Given the description of an element on the screen output the (x, y) to click on. 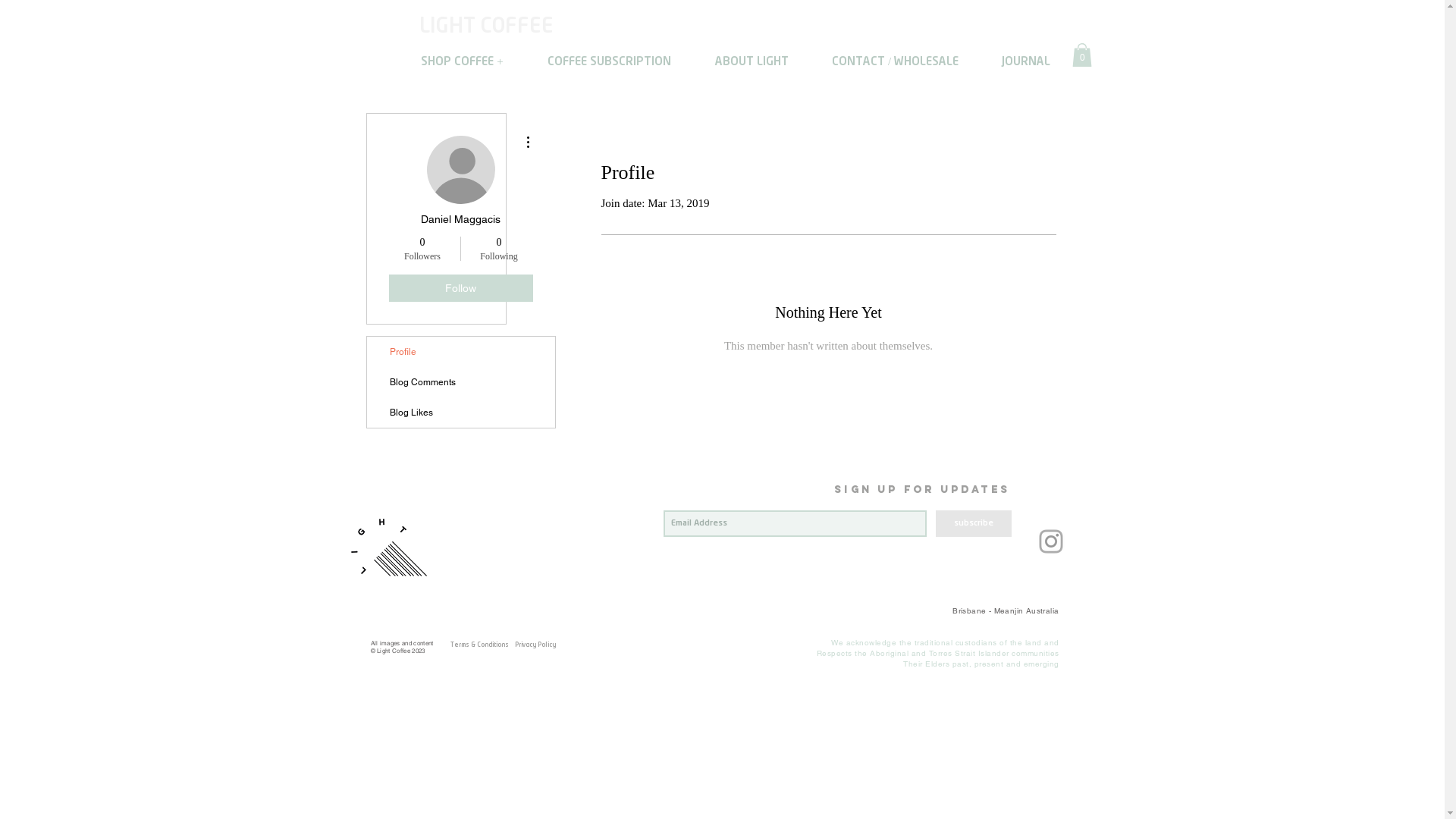
JOURNAL Element type: text (1025, 61)
Privacy Policy Element type: text (535, 646)
0 Element type: text (1082, 54)
SHOP COFFEE + Element type: text (461, 61)
Blog Likes Element type: text (461, 412)
LIGHT COFFEE Element type: text (489, 26)
subscribe Element type: text (973, 523)
COFFEE SUBSCRIPTION Element type: text (608, 61)
CONTACT / WHOLESALE Element type: text (894, 61)
0
Following Element type: text (499, 248)
Follow Element type: text (460, 287)
Profile Element type: text (461, 351)
ABOUT LIGHT Element type: text (751, 61)
Terms & Conditions Element type: text (479, 646)
0
Followers Element type: text (421, 248)
Blog Comments Element type: text (461, 382)
